Given the description of an element on the screen output the (x, y) to click on. 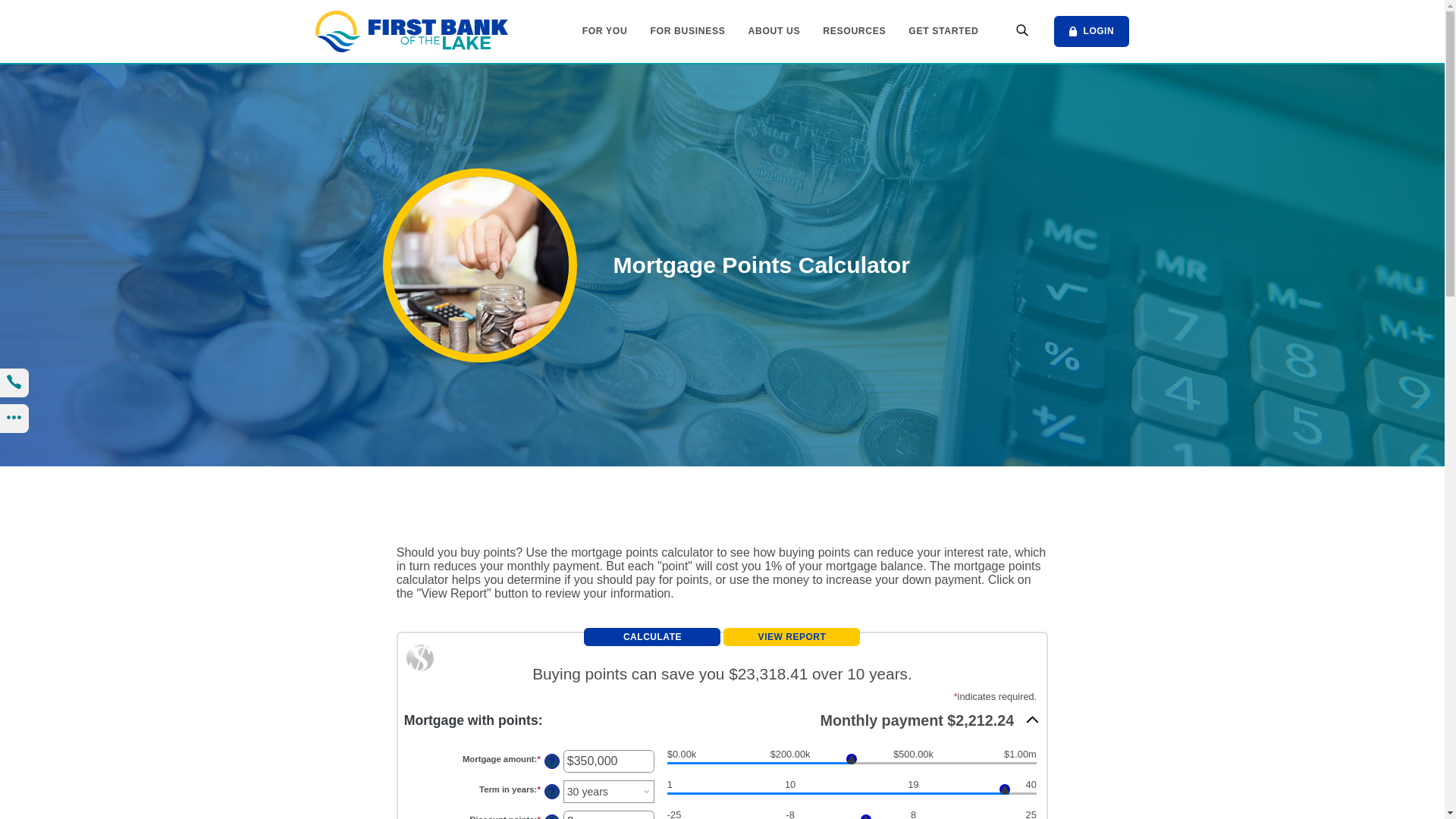
LOGIN Element type: text (1091, 30)
First Bank of the Lake, Osage Beach, MO Element type: hover (411, 31)
Mortgage amount slider Element type: hover (851, 764)
? Element type: text (551, 760)
? Element type: text (551, 791)
Term in years slider Element type: hover (851, 795)
Open Search Element type: text (1021, 31)
